Given the description of an element on the screen output the (x, y) to click on. 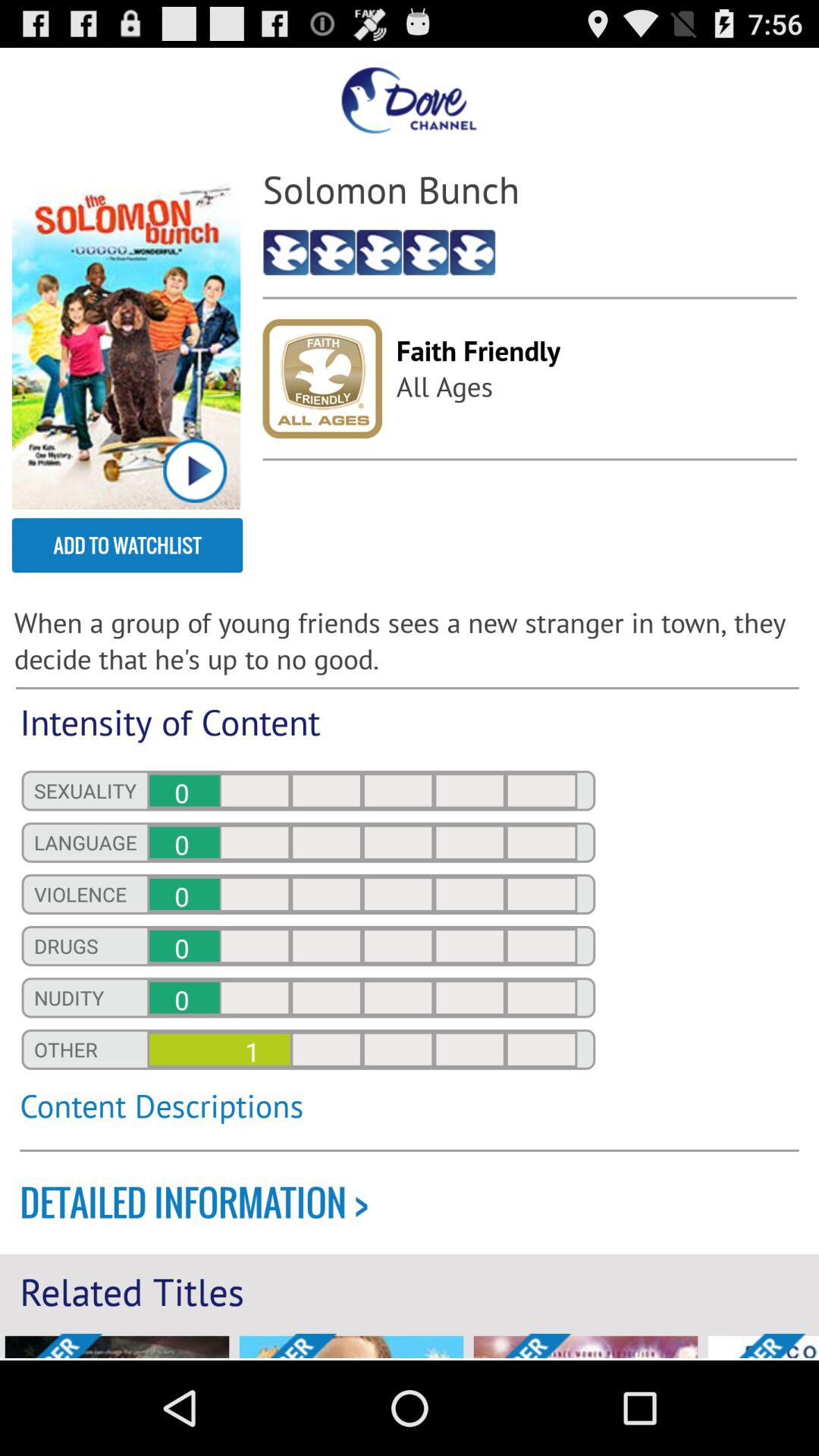
scroll until the content descriptions app (308, 1114)
